Given the description of an element on the screen output the (x, y) to click on. 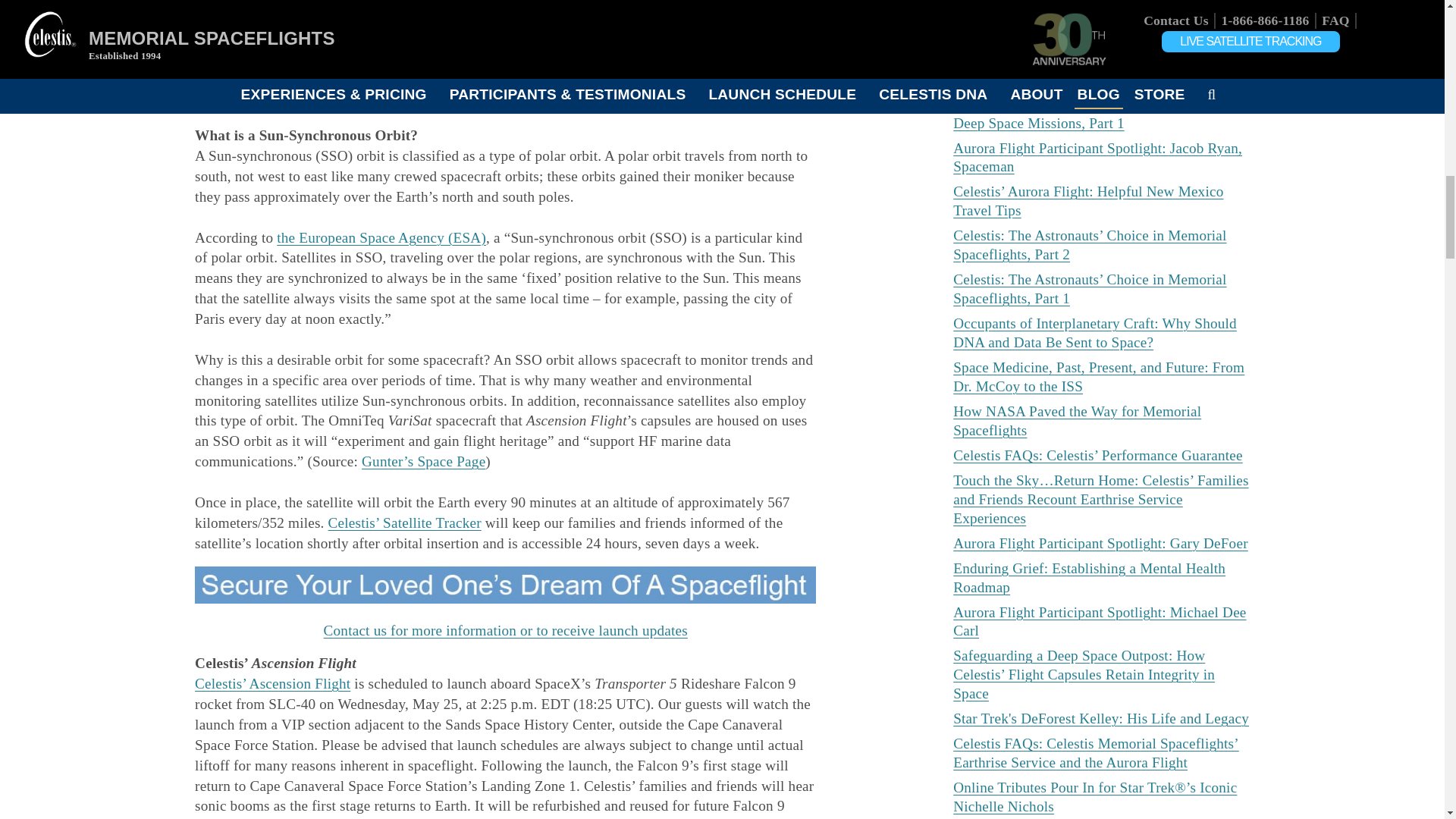
Contact us for more information or to receive launch updates (505, 630)
ESA - Polar and Sun-synchronous orbit (381, 237)
VariSat 1A, 1B, 1C - Gunter's Space Page (422, 461)
Ascension Flight (335, 33)
